Given the description of an element on the screen output the (x, y) to click on. 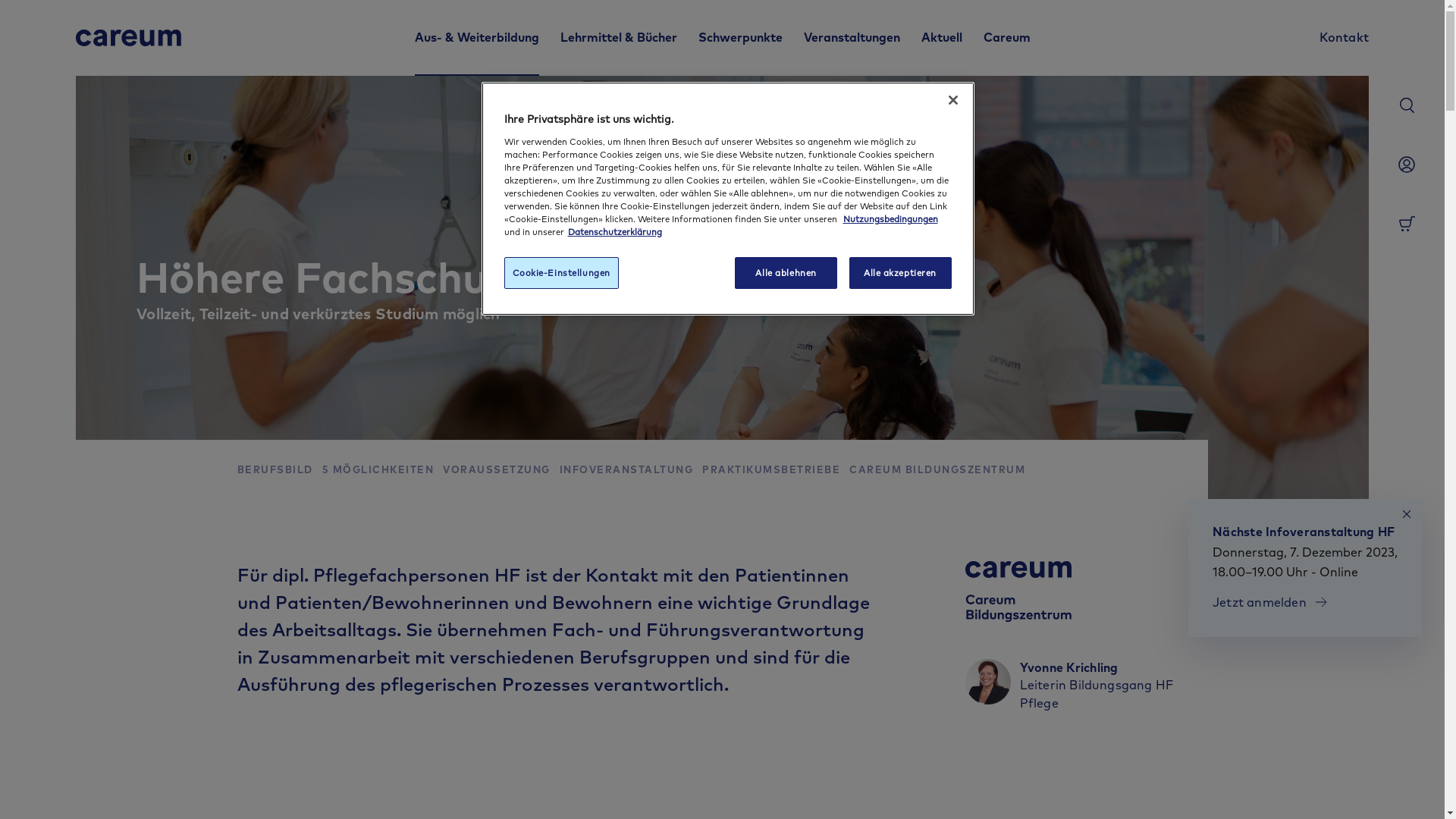
Nutzungsbedingungen Element type: text (890, 218)
Alle akzeptieren Element type: text (900, 272)
VORAUSSETZUNG Element type: text (496, 469)
CAREUM BILDUNGSZENTRUM Element type: text (937, 469)
Kontakt Element type: text (1343, 37)
INFOVERANSTALTUNG Element type: text (626, 469)
PRAKTIKUMSBETRIEBE Element type: text (771, 469)
Cookie-Einstellungen Element type: text (560, 272)
Aktuell Element type: text (940, 37)
BERUFSBILD Element type: text (274, 469)
Alle ablehnen Element type: text (785, 272)
Jetzt anmelden Element type: text (1269, 602)
